Given the description of an element on the screen output the (x, y) to click on. 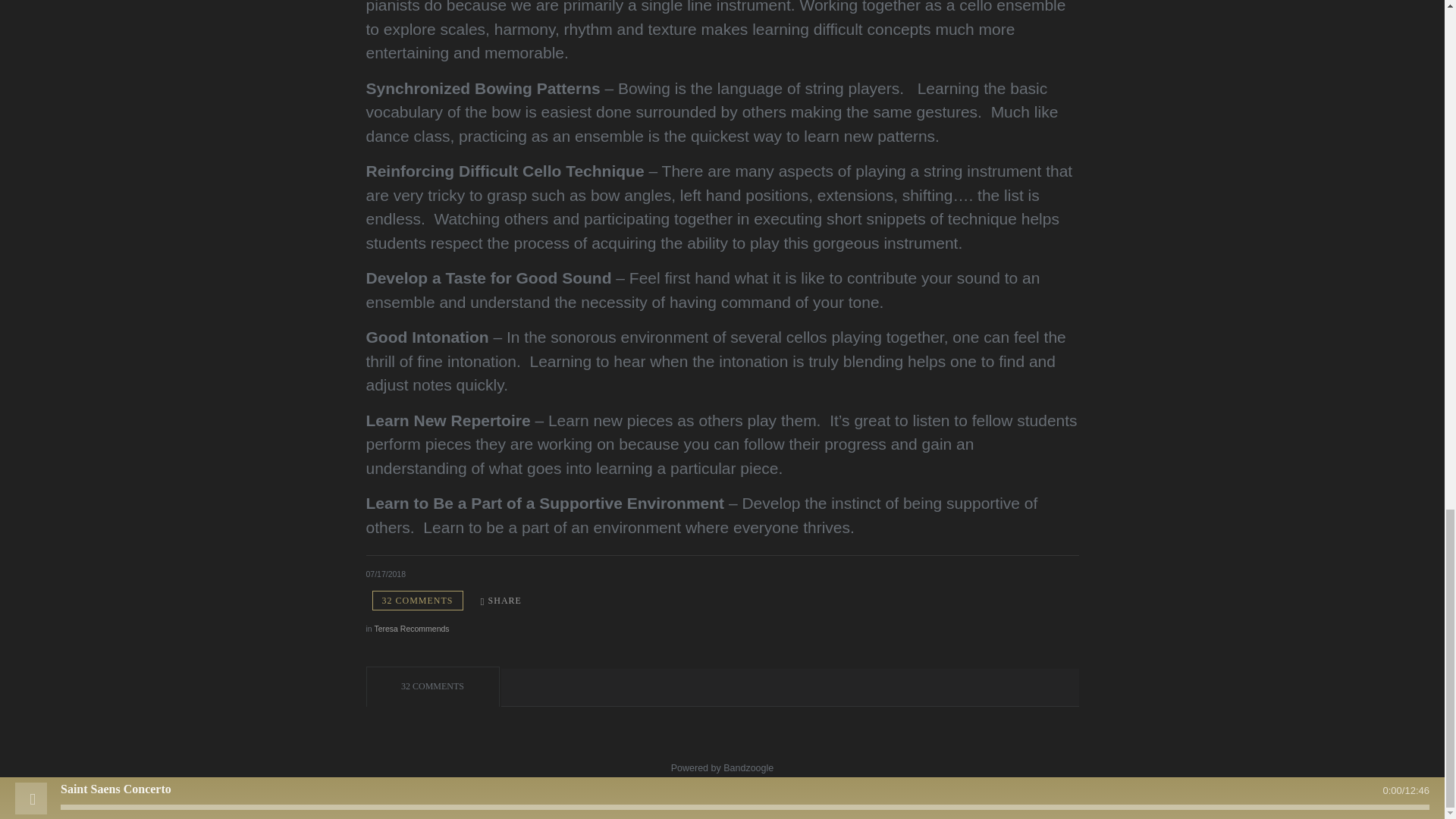
32 comments (417, 600)
32 COMMENTS (417, 600)
Teresa Recommends (411, 628)
SHARE (500, 600)
Powered by Bandzoogle (722, 767)
Share 10 Ways Group Cello Class Enhances Private Lessons (500, 600)
July 17, 2018 07:24 (385, 573)
